Given the description of an element on the screen output the (x, y) to click on. 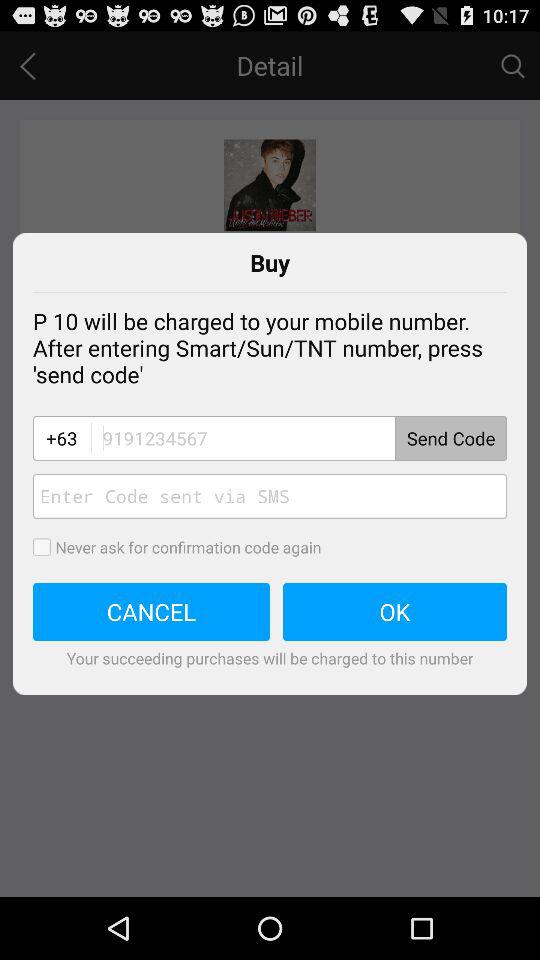
type code (270, 496)
